Given the description of an element on the screen output the (x, y) to click on. 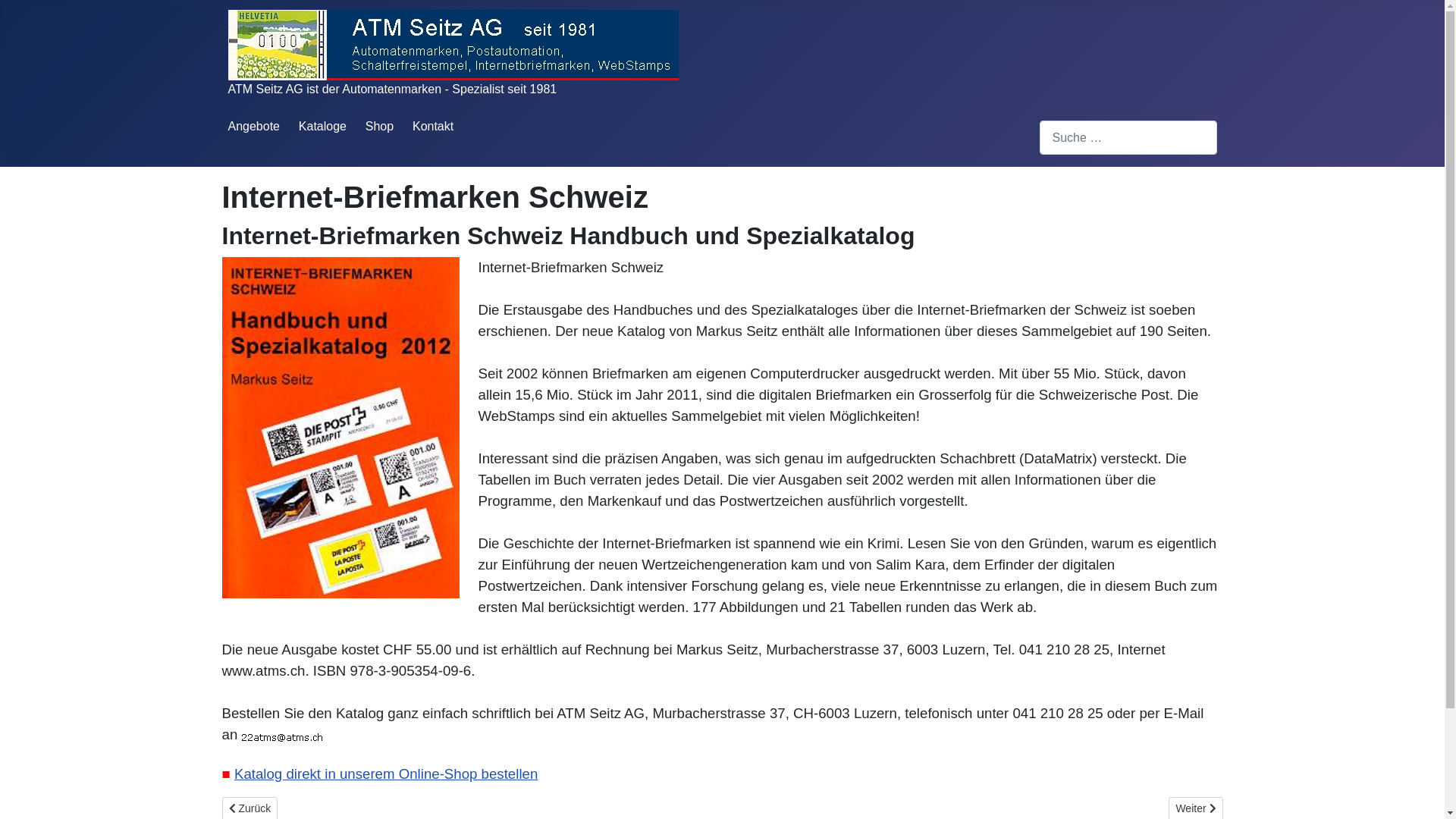
Katalog direkt in unserem Online-Shop bestellen Element type: text (385, 773)
Kontakt Element type: text (432, 125)
Shop Element type: text (379, 125)
Angebote Element type: text (253, 125)
Handbuch und Spezialkatalog Internet - Briefmarken Element type: hover (339, 428)
Kataloge Element type: text (322, 125)
